Given the description of an element on the screen output the (x, y) to click on. 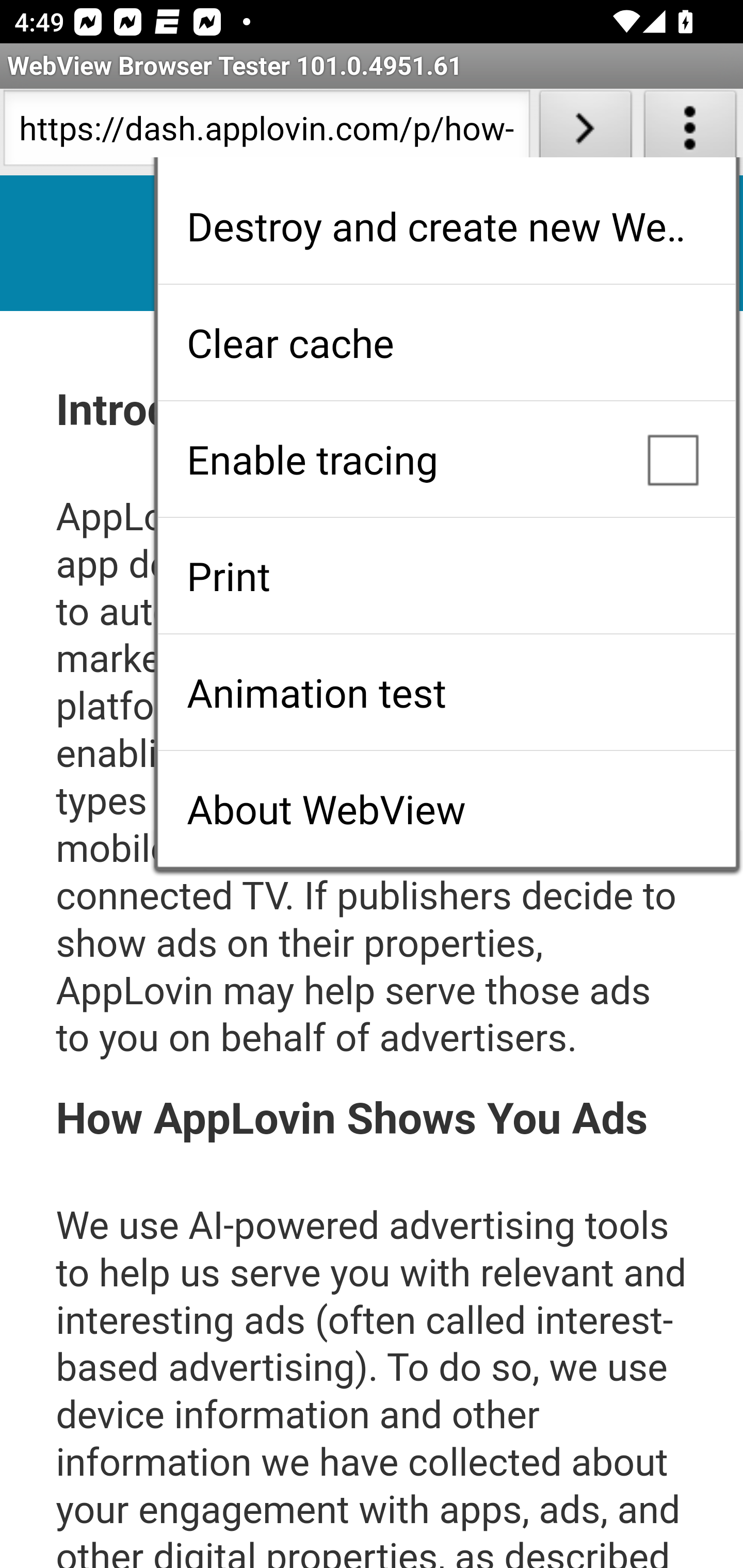
Destroy and create new WebView (446, 225)
Clear cache (446, 342)
Enable tracing (446, 459)
Print (446, 575)
Animation test (446, 692)
About WebView (446, 809)
